Given the description of an element on the screen output the (x, y) to click on. 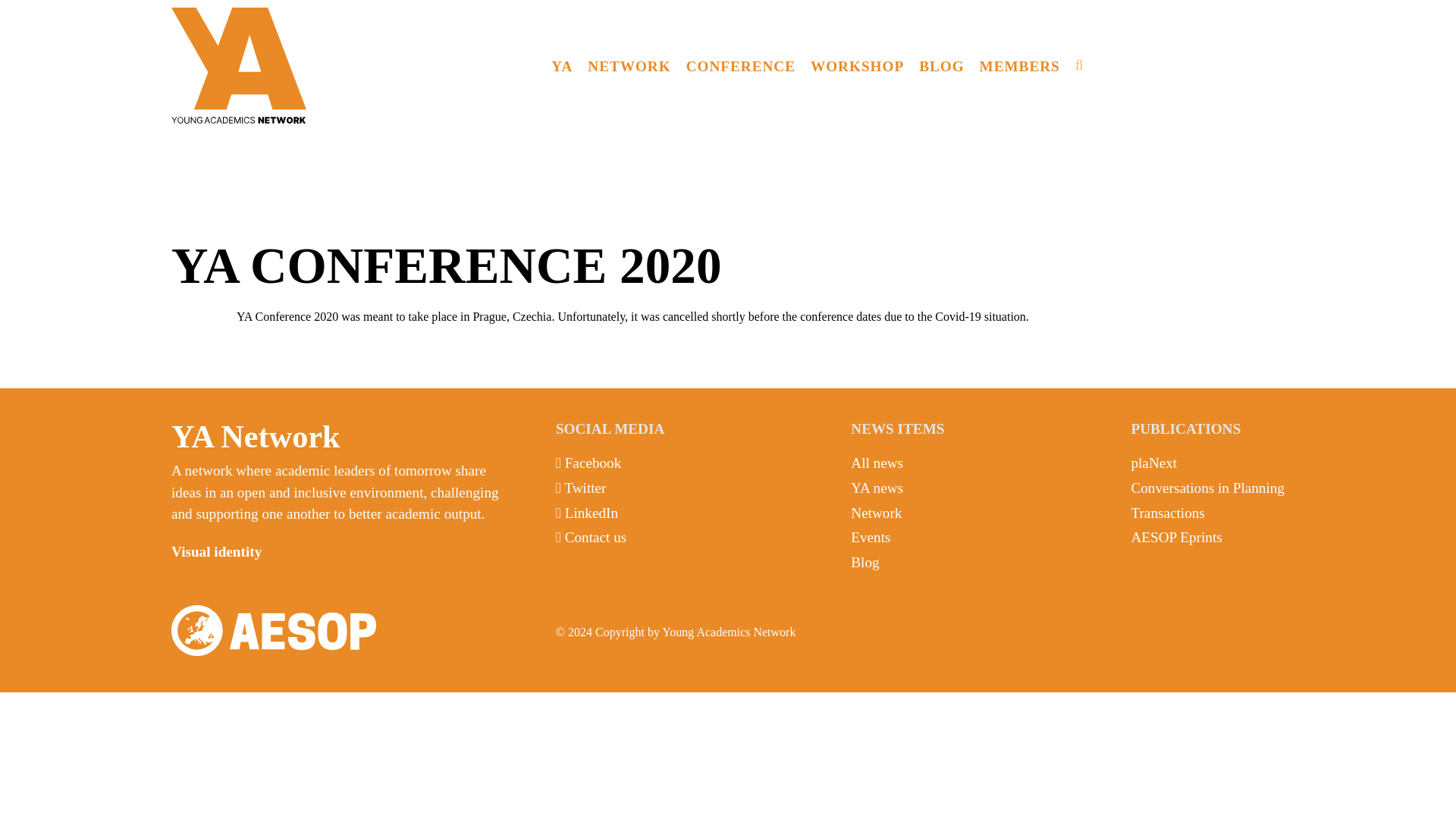
Contact us (595, 537)
LinkedIn (590, 512)
YA (561, 65)
plaNext (1153, 462)
Network (875, 512)
BLOG (940, 65)
CONFERENCE (740, 65)
Transactions (1167, 512)
Blog (864, 562)
Contact us (595, 537)
Events (869, 537)
AESOP Eprints (1176, 537)
MEMBERS (1019, 65)
Events (869, 537)
Facebook (592, 462)
